Given the description of an element on the screen output the (x, y) to click on. 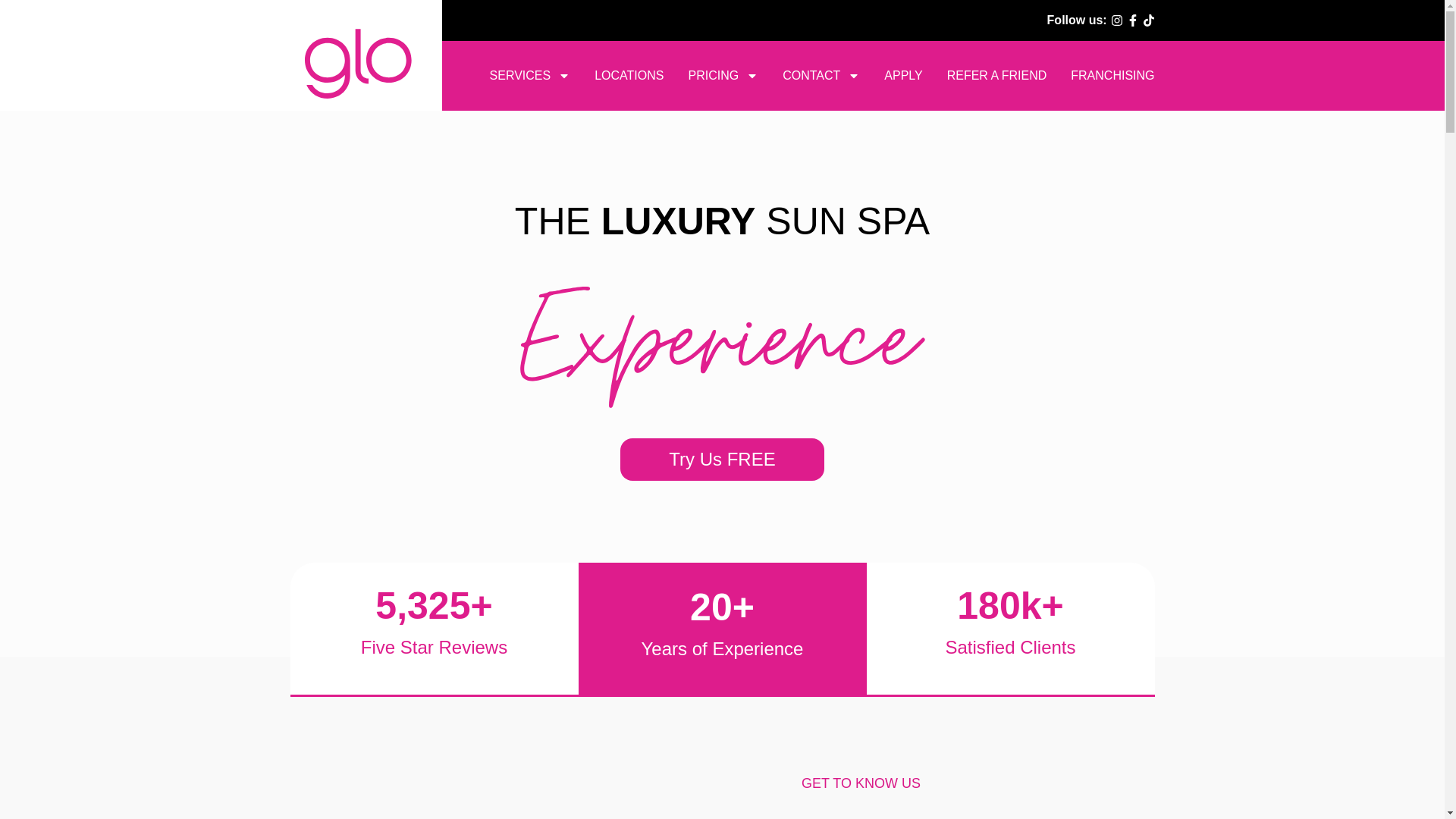
CONTACT (821, 75)
PRICING (722, 75)
LOCATIONS (628, 75)
SERVICES (529, 75)
FRANCHISING (1112, 75)
APPLY (902, 75)
REFER A FRIEND (996, 75)
